Given the description of an element on the screen output the (x, y) to click on. 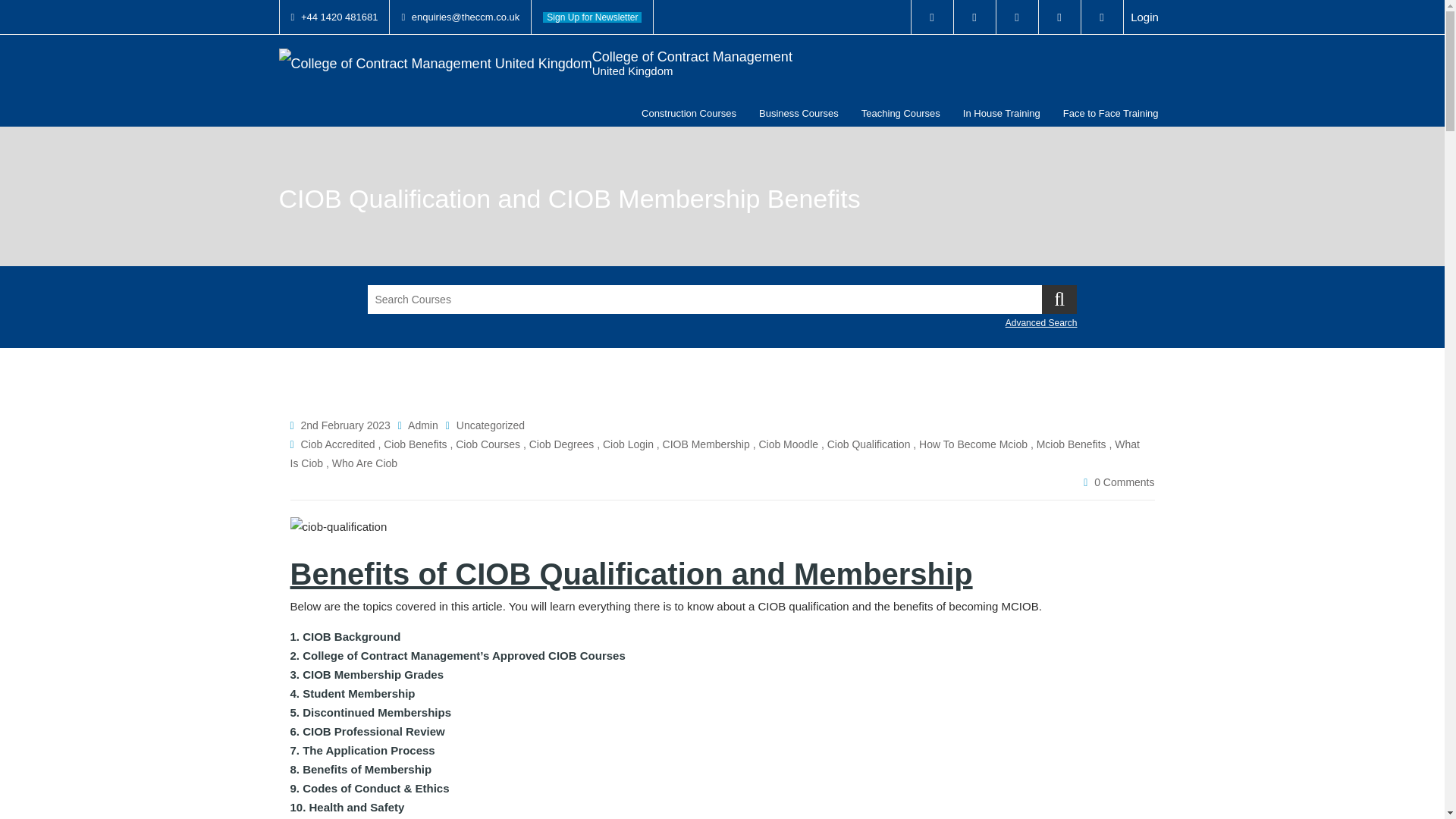
youtube-play (1060, 17)
facebook (535, 63)
Construction Courses (932, 17)
linkedin (688, 112)
Sign Up for Newsletter (1017, 17)
Login (592, 17)
College of Contract Management United Kingdom (1145, 17)
twitter (535, 63)
rss (974, 17)
